Given the description of an element on the screen output the (x, y) to click on. 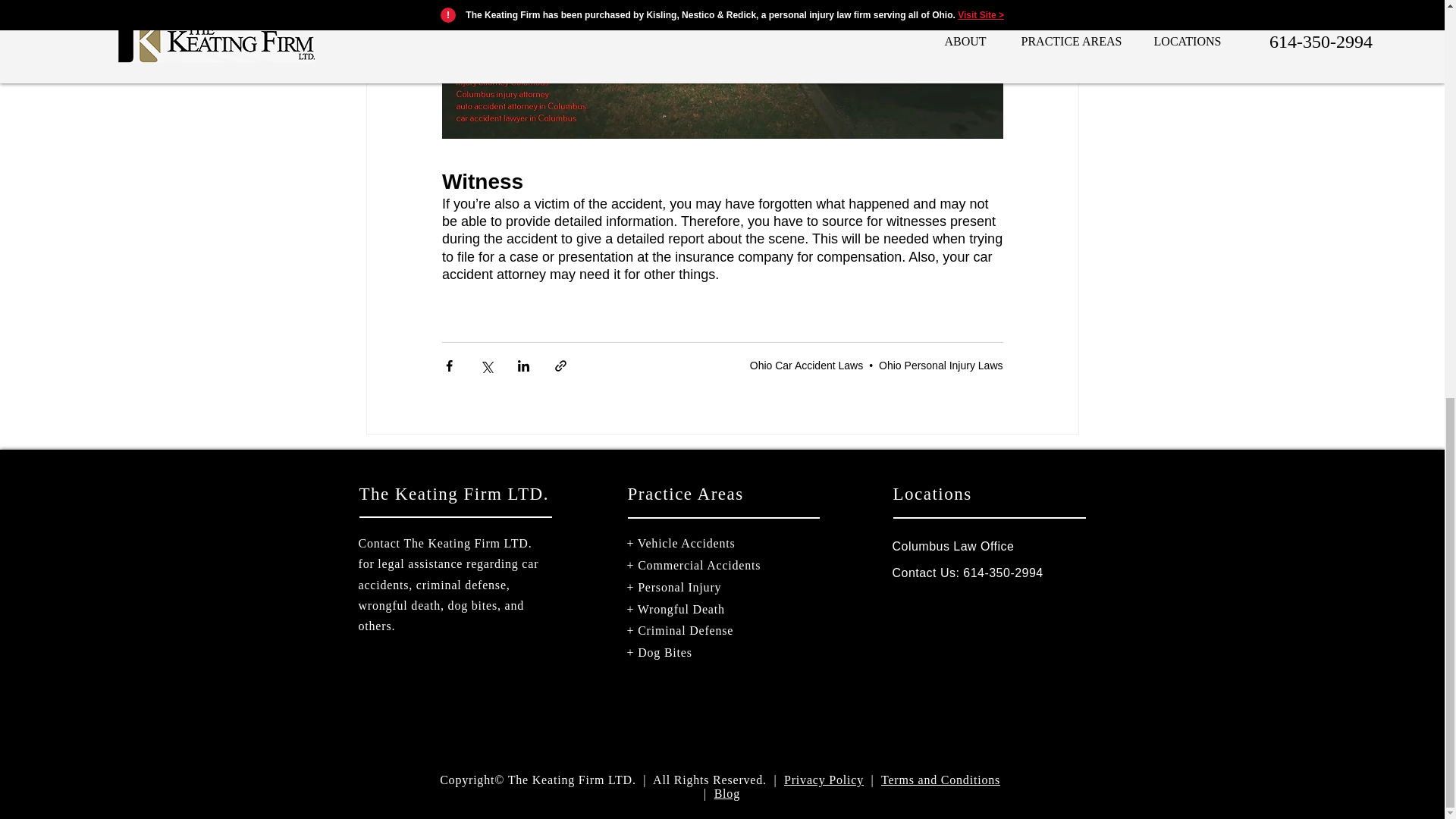
Commercial Accidents (698, 564)
Personal Injury (678, 586)
Ohio Personal Injury Laws (941, 365)
Vehicle Accidents (686, 543)
Ohio Car Accident Laws (806, 365)
